Given the description of an element on the screen output the (x, y) to click on. 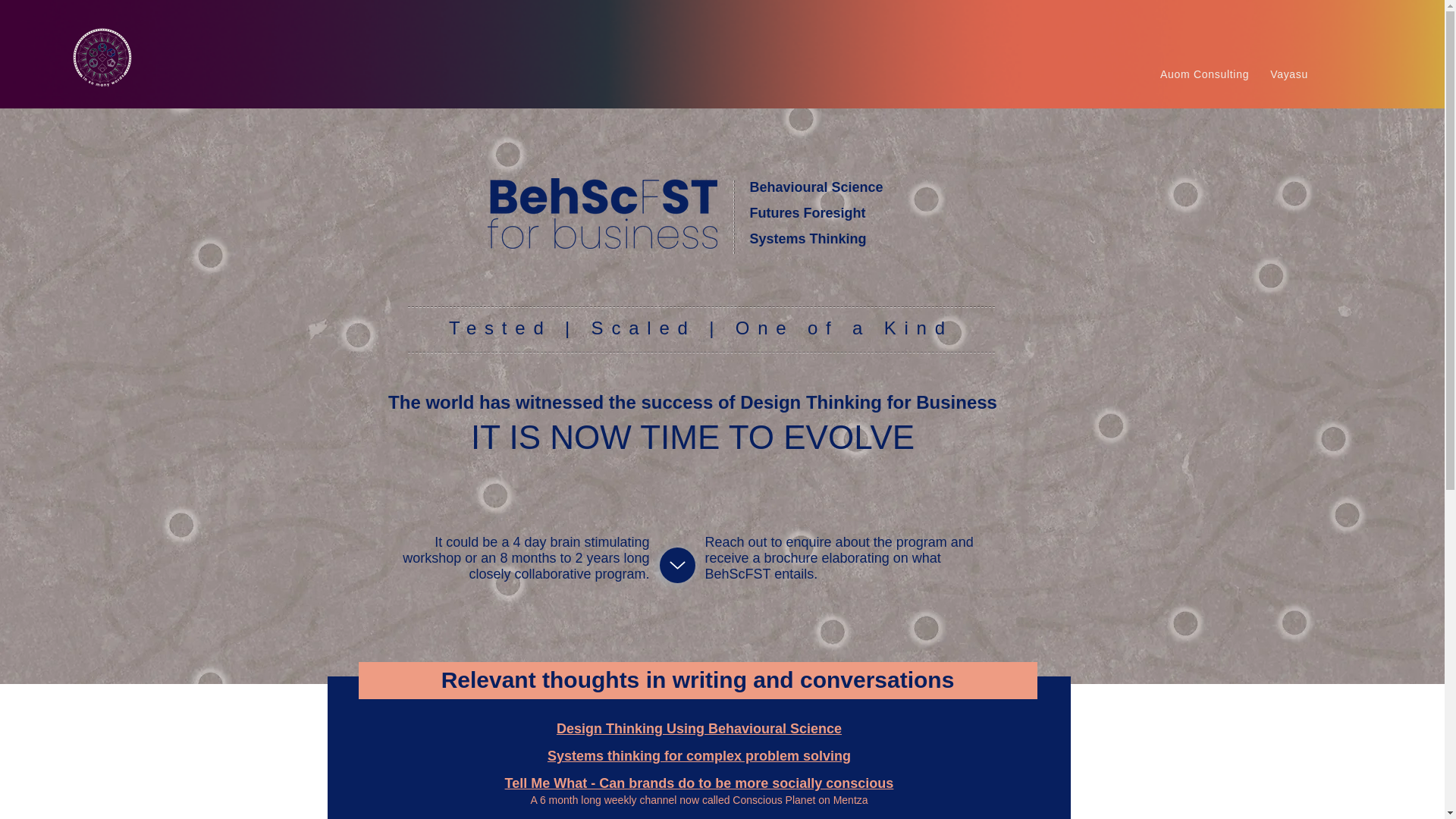
Auom Consulting (960, 73)
Vayasu (1204, 73)
Design Thinking Using Behavioural Science (1289, 73)
